Given the description of an element on the screen output the (x, y) to click on. 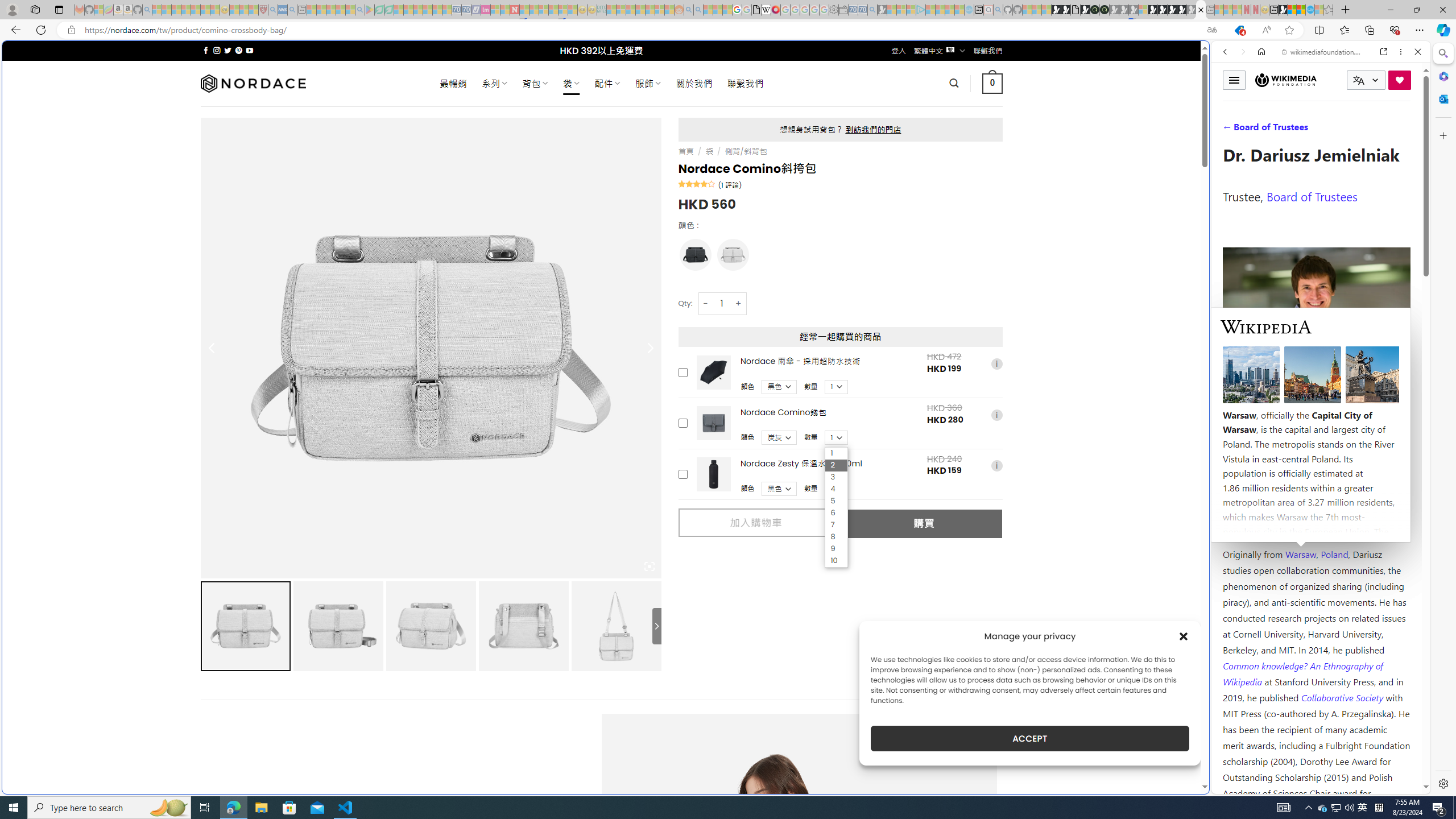
Follow on Facebook (205, 50)
